Given the description of an element on the screen output the (x, y) to click on. 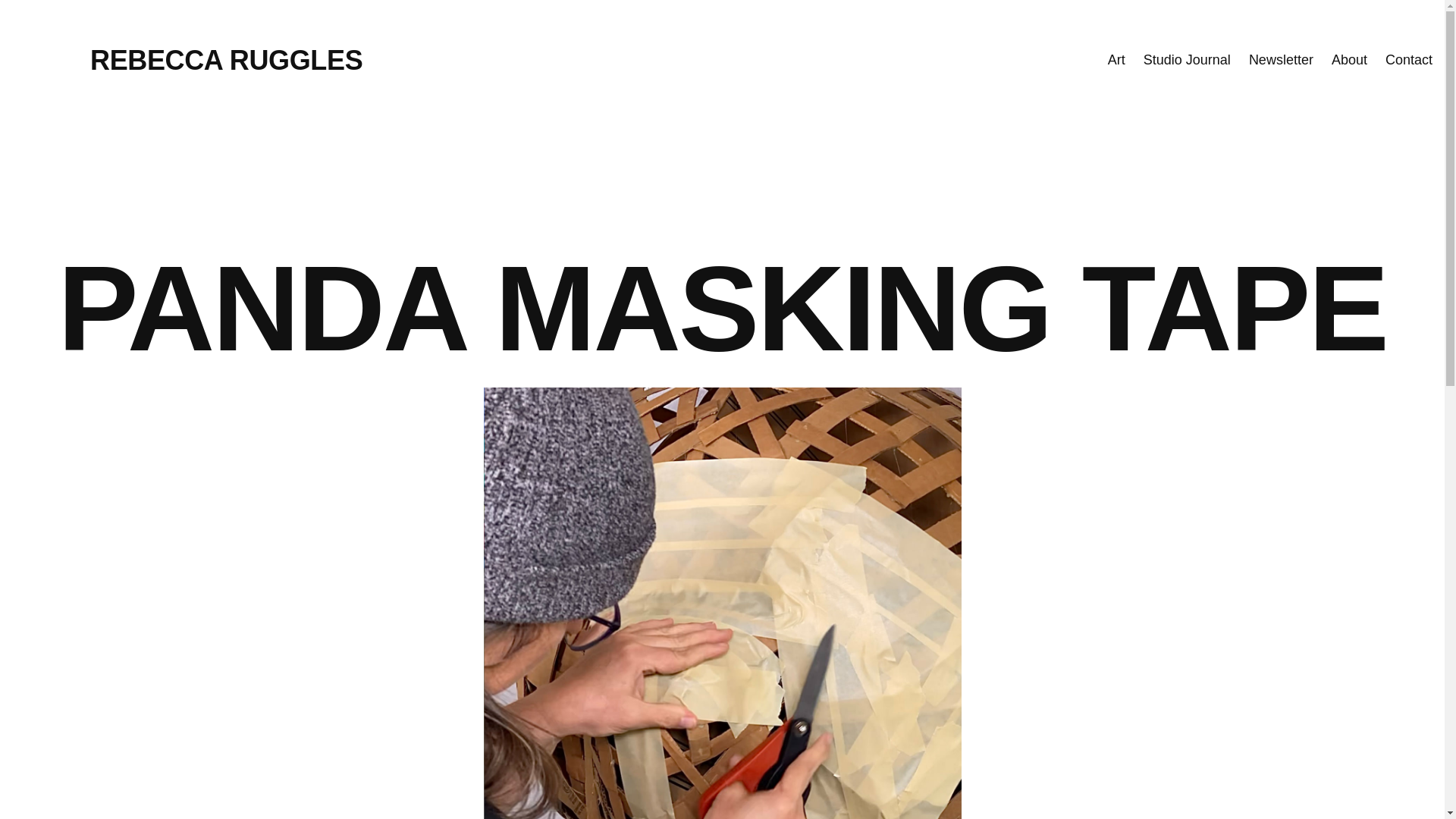
About (1349, 59)
REBECCA RUGGLES (226, 60)
Studio Journal (1186, 59)
Newsletter (1281, 59)
Contact (1409, 59)
